Given the description of an element on the screen output the (x, y) to click on. 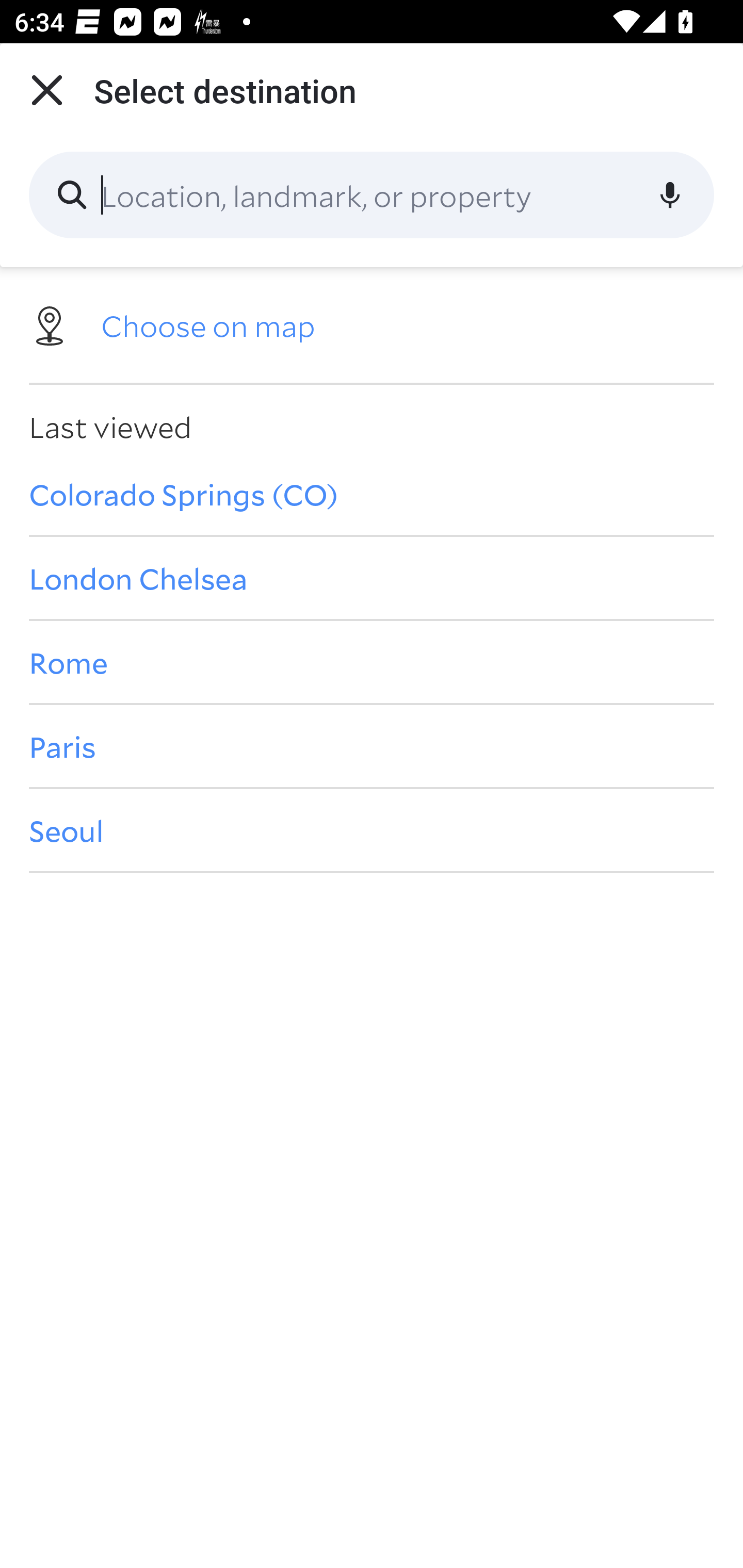
Location, landmark, or property (371, 195)
Choose on map (371, 324)
Colorado Springs (CO) (371, 493)
London Chelsea (371, 577)
Rome (371, 661)
Paris (371, 746)
Seoul (371, 829)
